Given the description of an element on the screen output the (x, y) to click on. 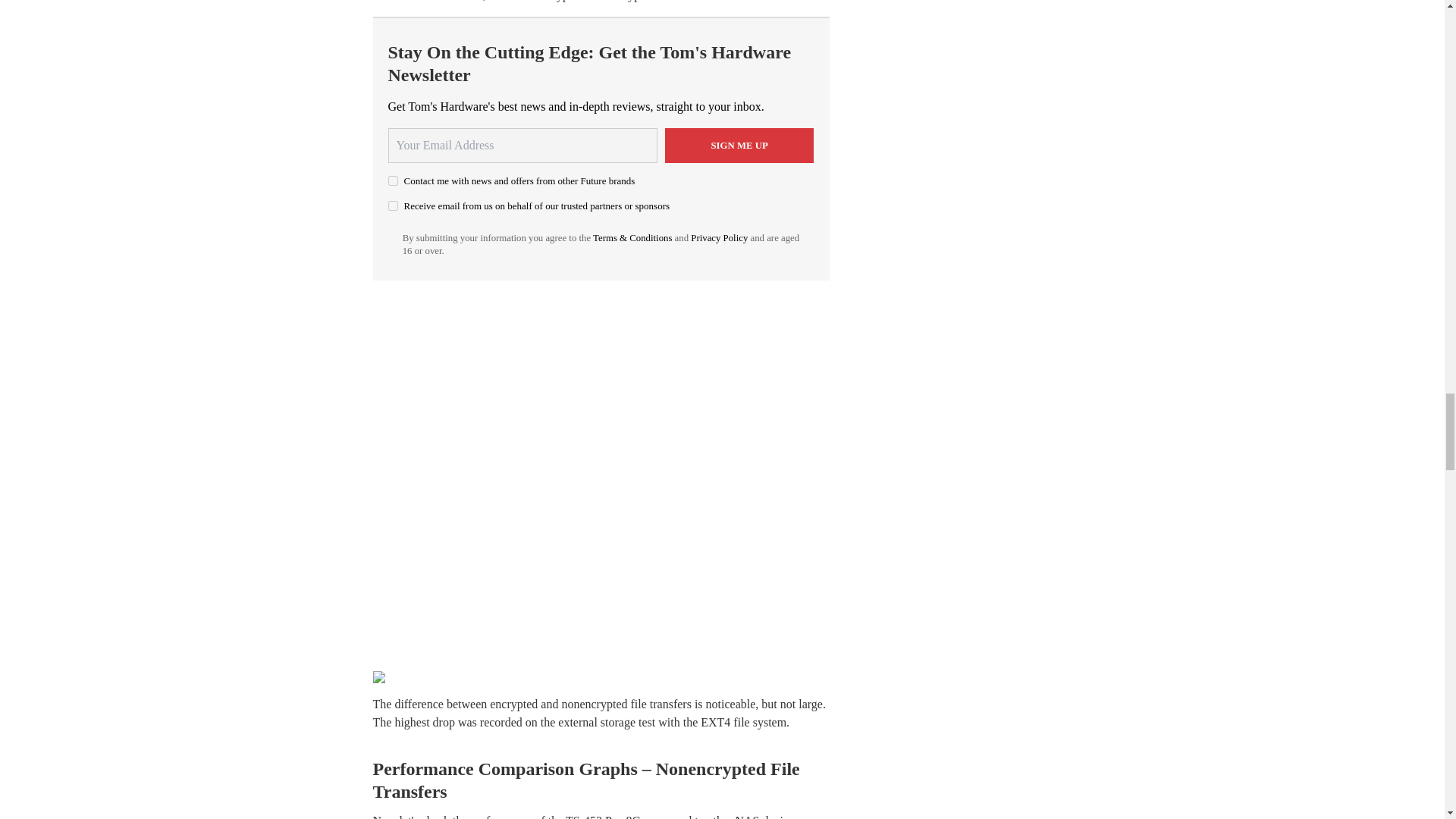
on (392, 180)
on (392, 205)
Sign me up (739, 144)
